Given the description of an element on the screen output the (x, y) to click on. 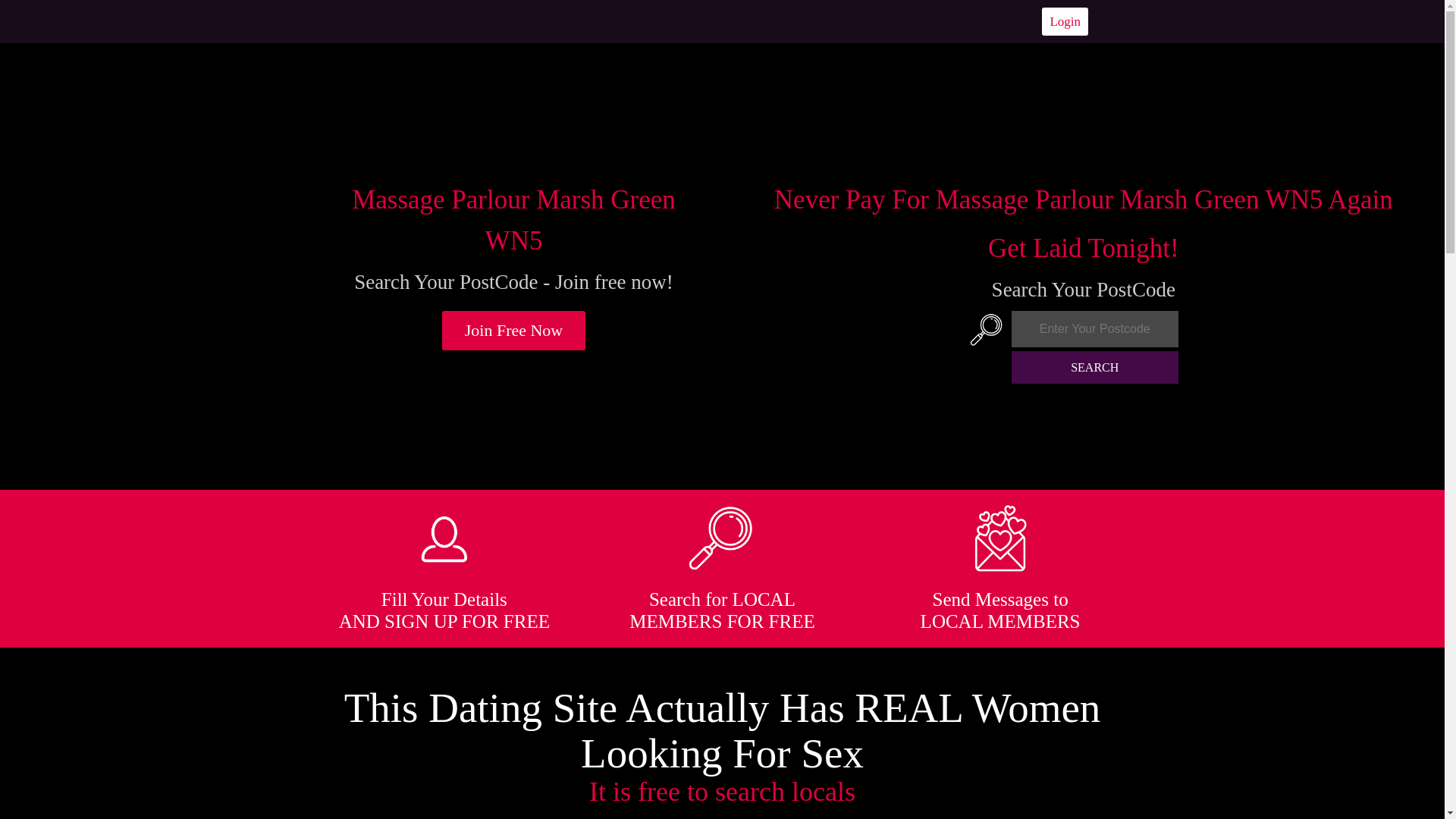
Login to massageparloursmanchester.co.uk (1064, 21)
Join (514, 330)
Login (1064, 21)
SEARCH (1094, 367)
Join Free Now (514, 330)
